Given the description of an element on the screen output the (x, y) to click on. 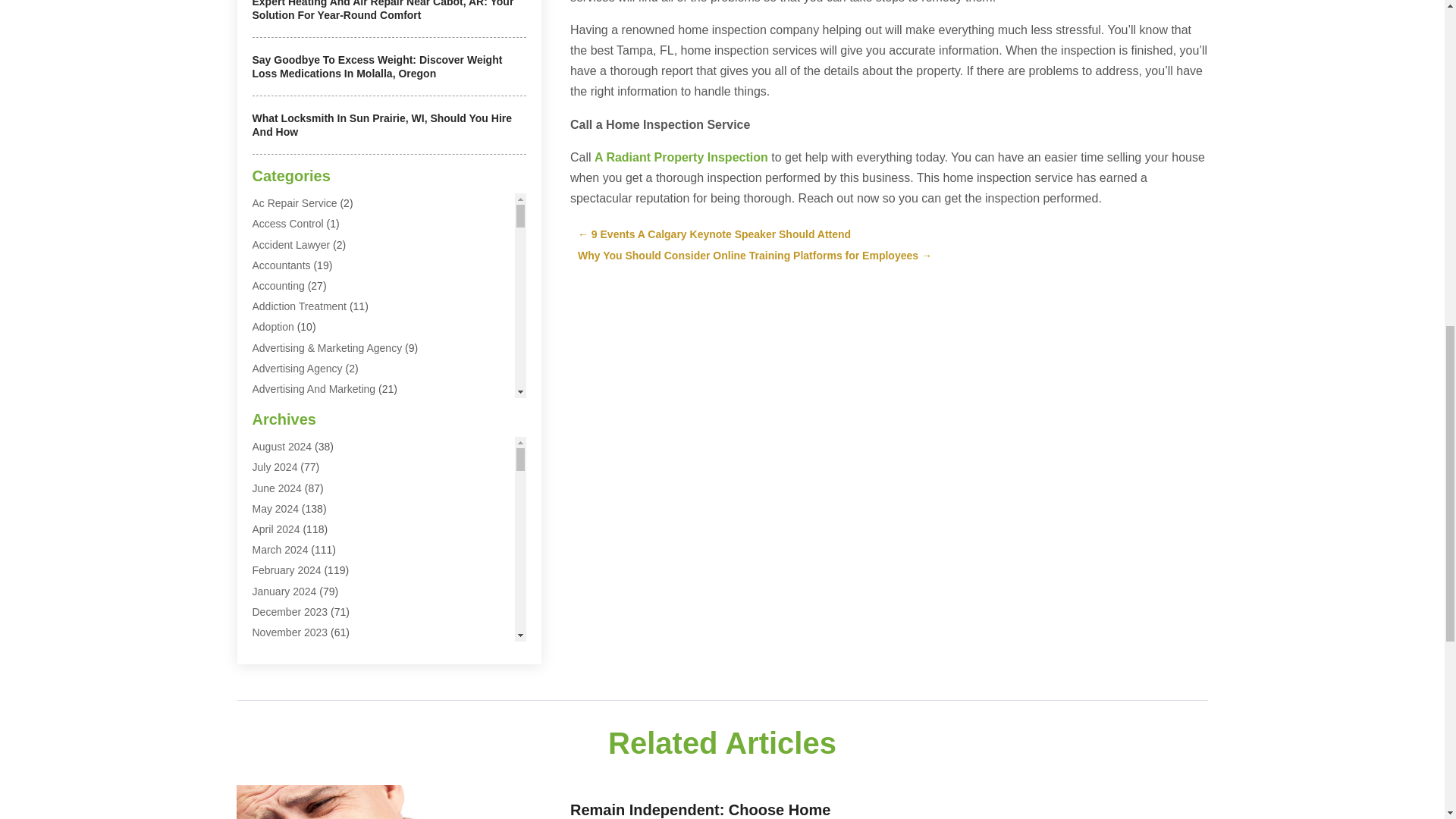
Advertising Agency (296, 368)
Air Conditioning Contractor (314, 491)
Ac Repair Service (293, 203)
Agricultural Service (297, 409)
What Locksmith In Sun Prairie, WI, Should You Hire And How (381, 125)
Adoption (272, 326)
Air Conditioners (289, 450)
Agriculture (276, 429)
Addiction Treatment (298, 306)
Advertising And Marketing (313, 388)
